Given the description of an element on the screen output the (x, y) to click on. 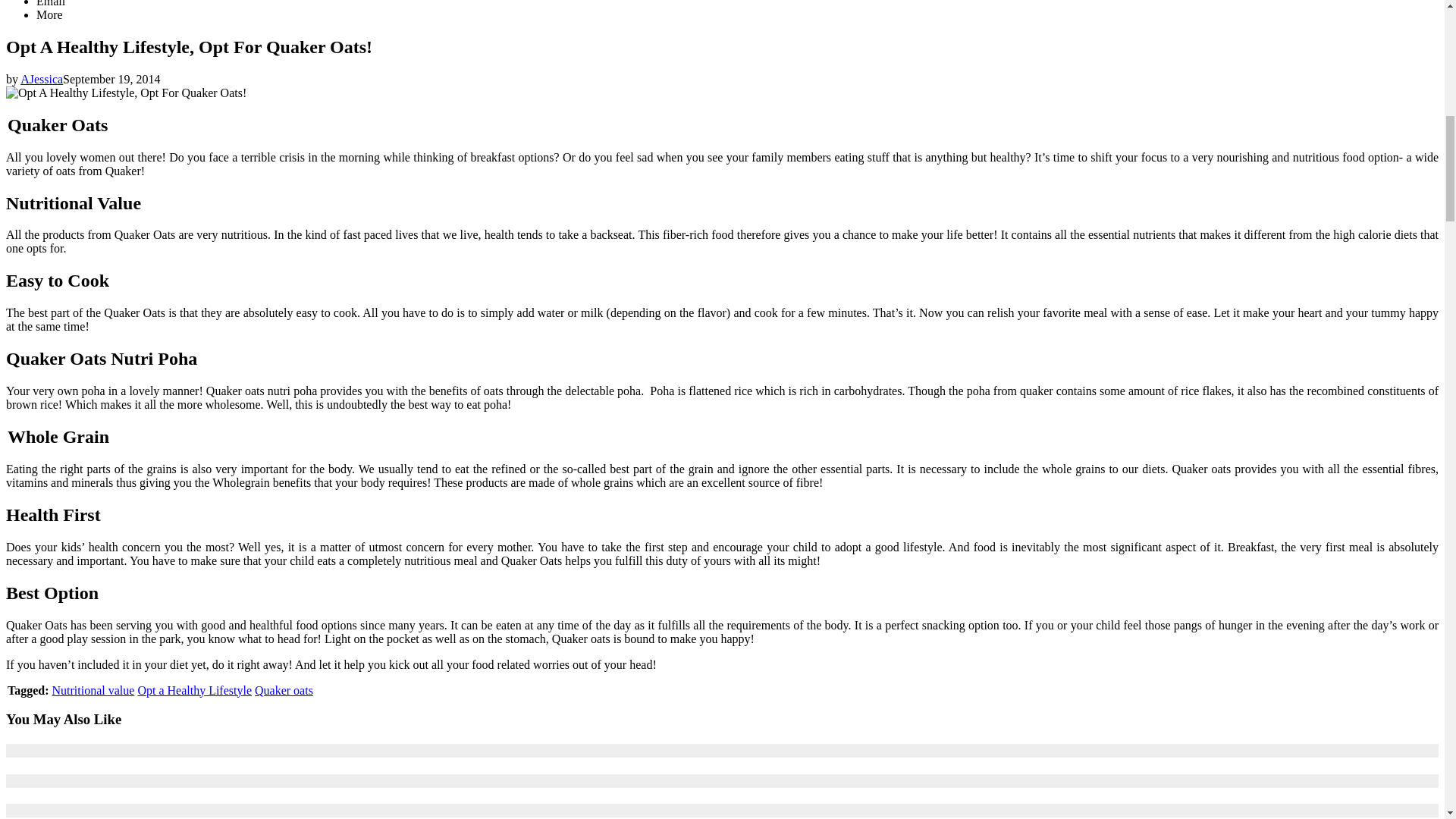
More (49, 14)
More (49, 14)
Share via Email (50, 3)
Email (50, 3)
